Given the description of an element on the screen output the (x, y) to click on. 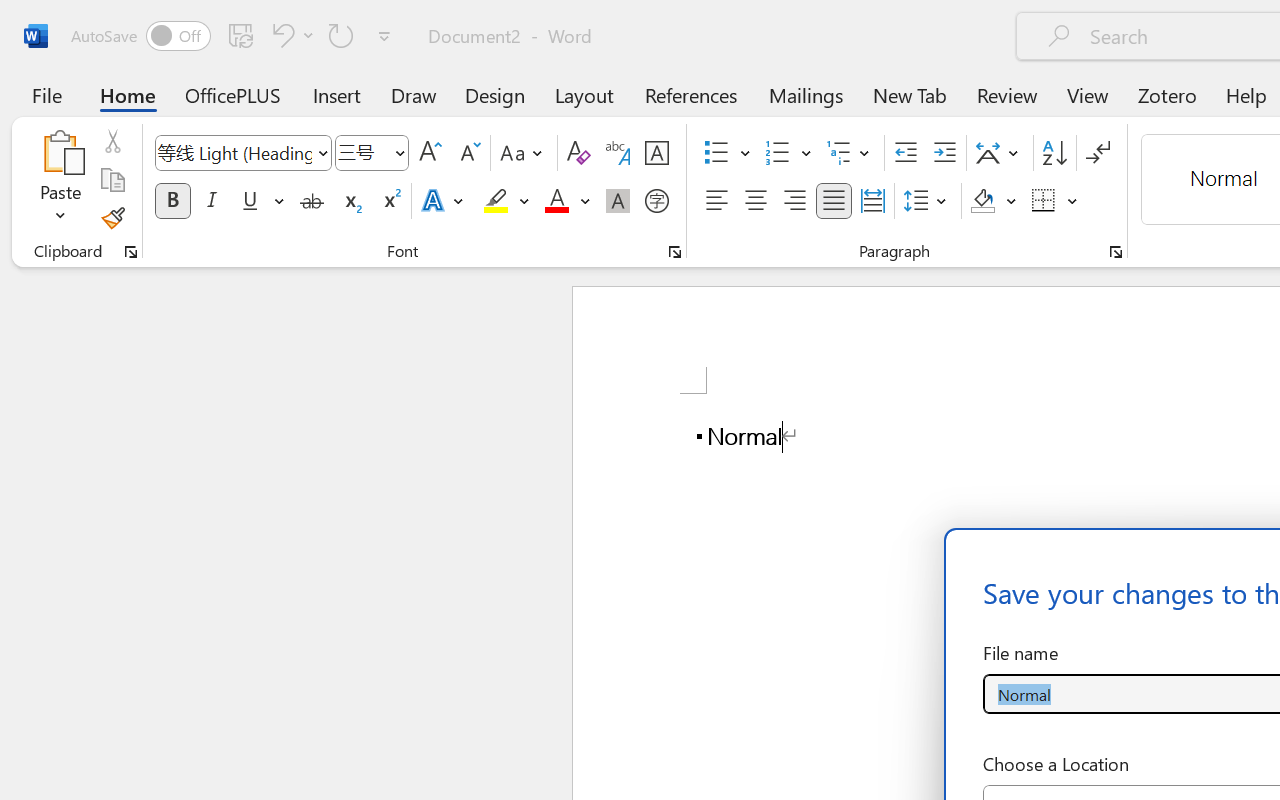
Paste (60, 179)
Paragraph... (1115, 252)
OfficePLUS (233, 94)
Font (242, 153)
Justify (834, 201)
New Tab (909, 94)
Customize Quick Access Toolbar (384, 35)
Bullets (716, 153)
Clear Formatting (578, 153)
Review (1007, 94)
Home (127, 94)
Shrink Font (468, 153)
Shading RGB(0, 0, 0) (982, 201)
Paste (60, 151)
